Given the description of an element on the screen output the (x, y) to click on. 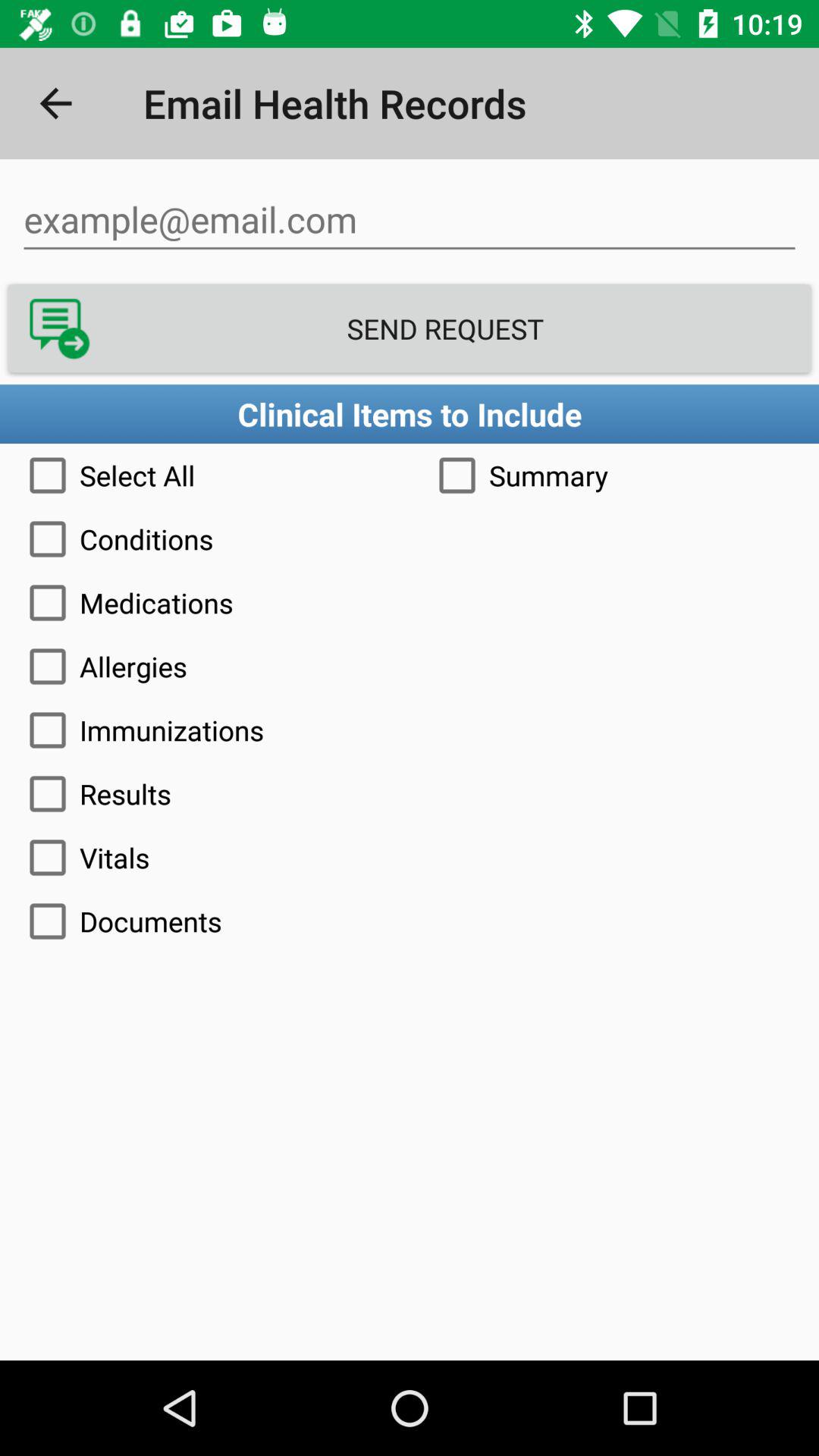
launch the item above the allergies (409, 602)
